Given the description of an element on the screen output the (x, y) to click on. 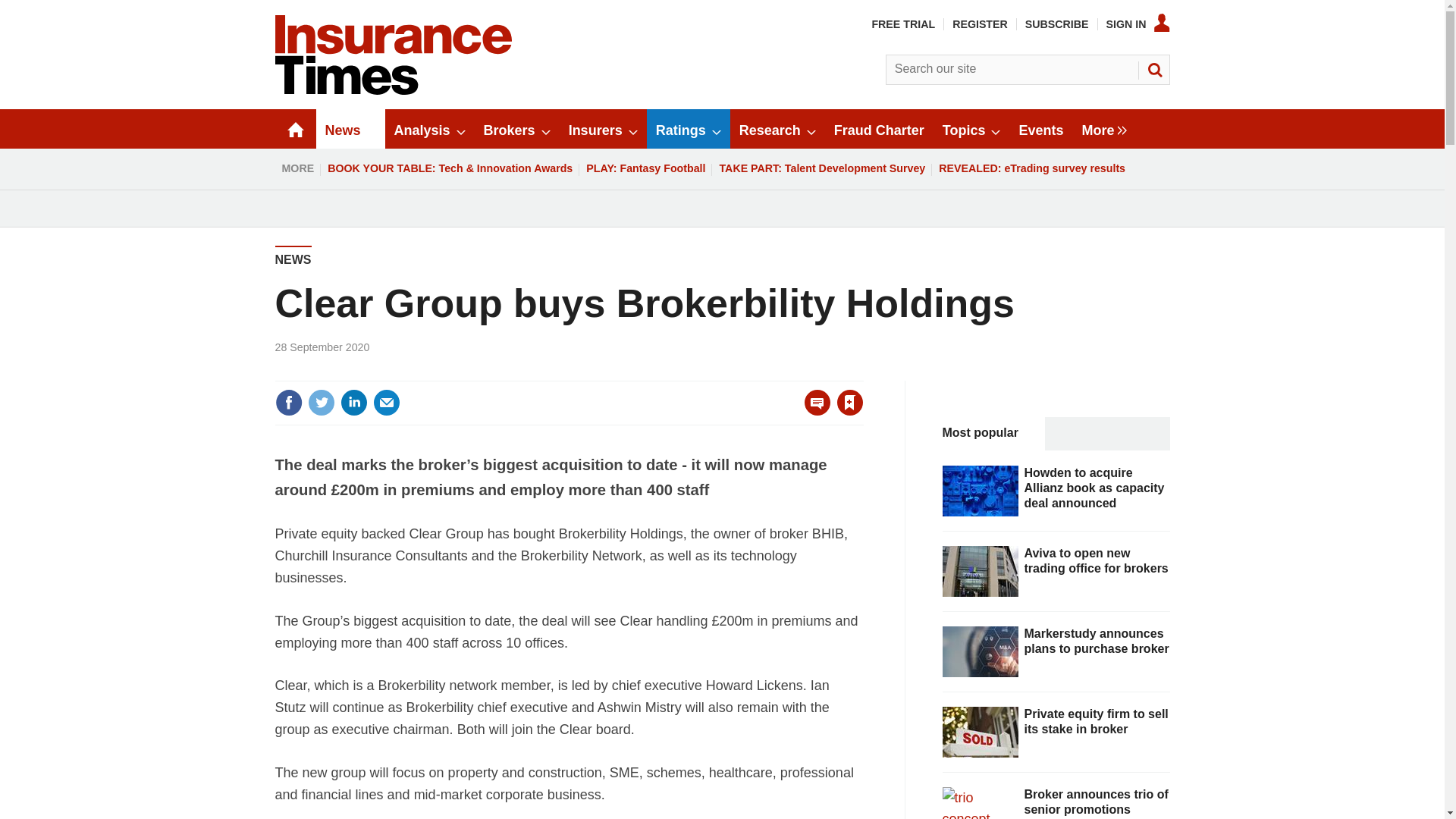
SEARCH (1153, 69)
REVEALED: eTrading survey results (1031, 168)
Insert Logo text (393, 90)
SUBSCRIBE (1057, 24)
FREE TRIAL (902, 24)
Share this on Linked in (352, 402)
Email this article (386, 402)
SIGN IN (1138, 24)
TAKE PART: Talent Development Survey (821, 168)
PLAY: Fantasy Football (645, 168)
Share this on Facebook (288, 402)
Share this on Twitter (320, 402)
REGISTER (979, 24)
No comments (812, 411)
